Given the description of an element on the screen output the (x, y) to click on. 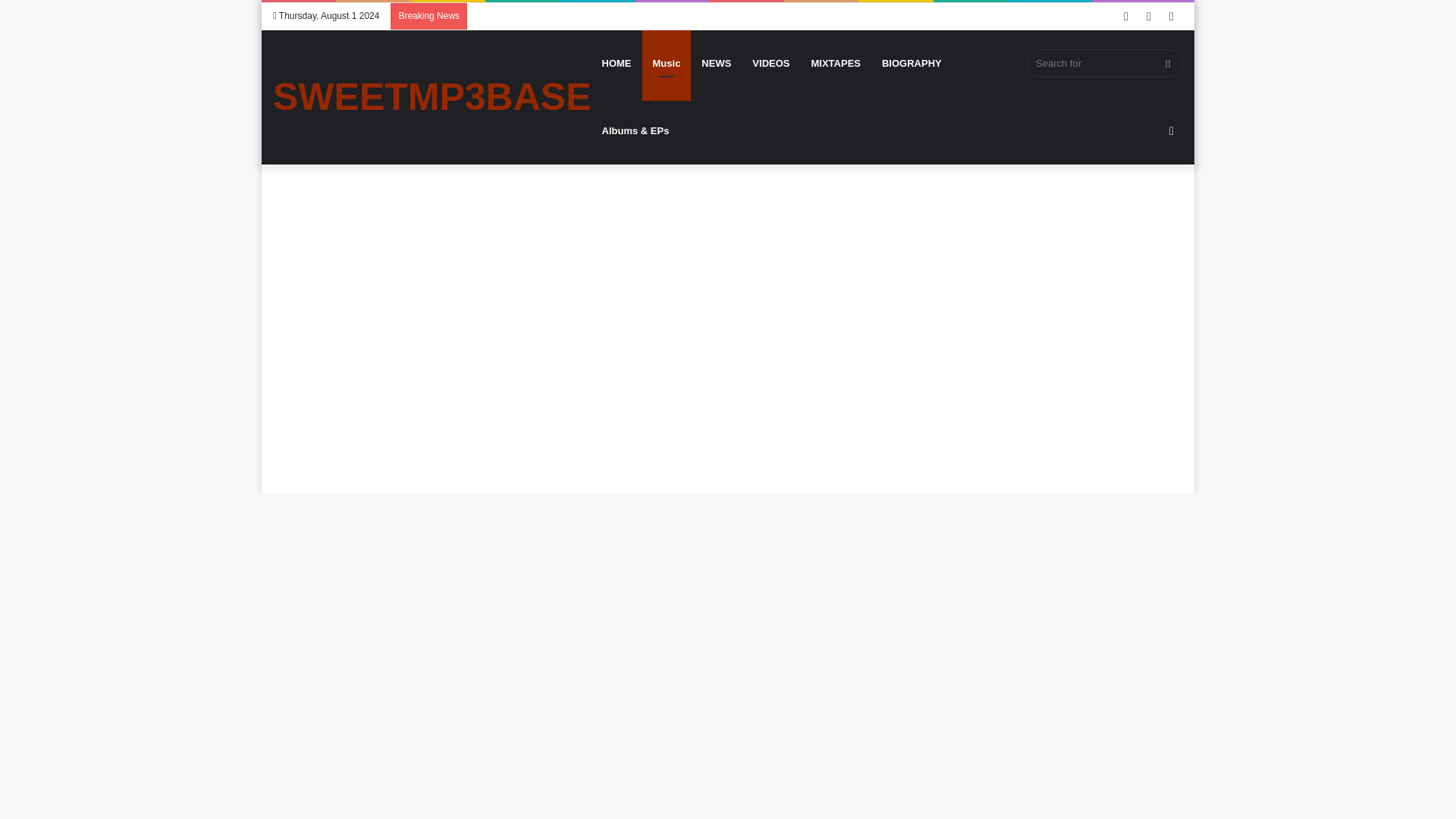
SWEETMP3BASE  (432, 96)
MIXTAPES (834, 63)
BIOGRAPHY (911, 63)
Search for (1104, 62)
SWEETMP3BASE (432, 96)
